Given the description of an element on the screen output the (x, y) to click on. 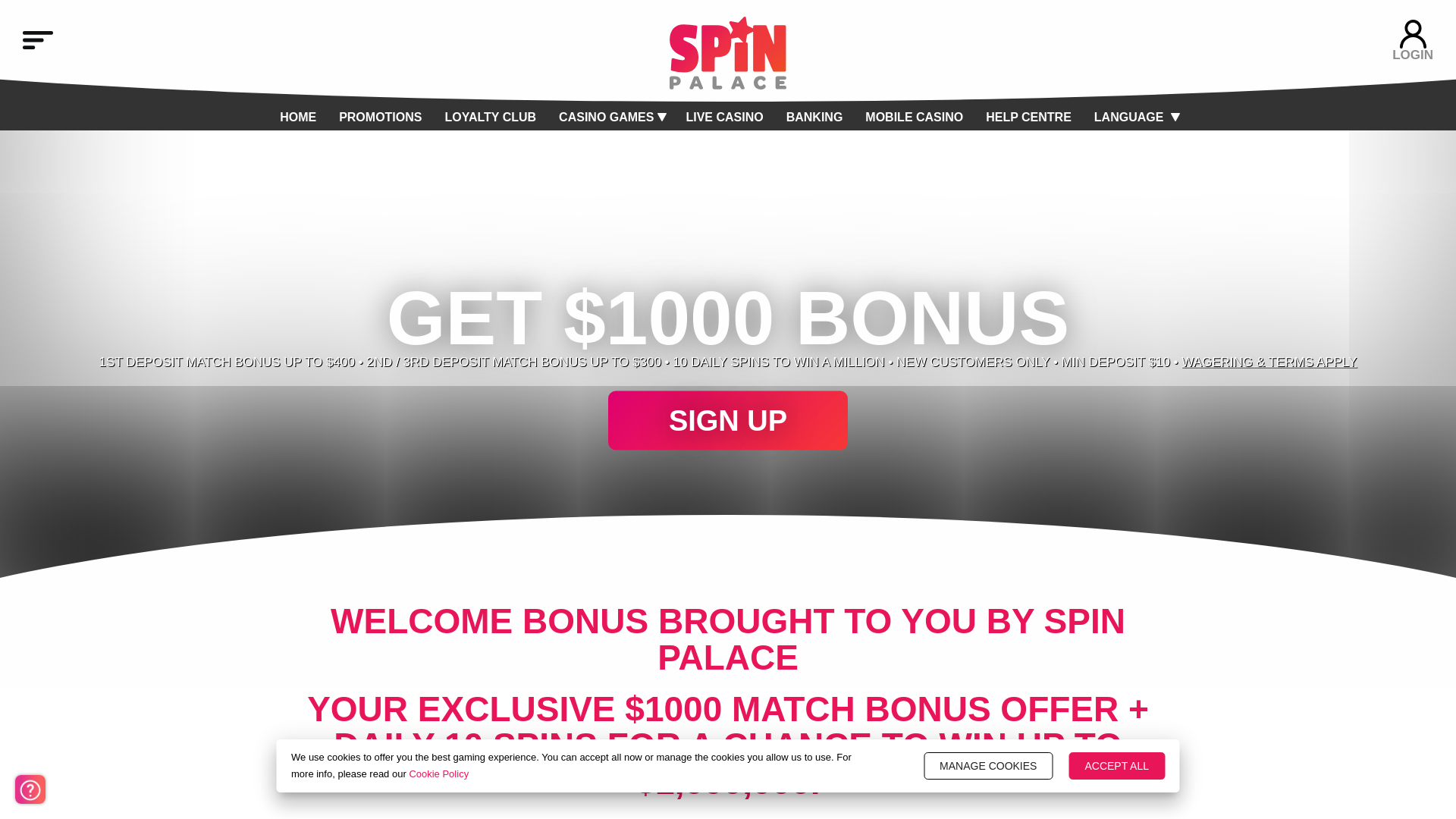
HELP CENTRE (1028, 117)
CASINO GAMES (606, 117)
PROMOTIONS (380, 117)
SIGN UP (727, 420)
BANKING (814, 117)
LANGUAGE (1128, 117)
HOME (297, 117)
MOBILE CASINO (913, 117)
LOYALTY CLUB (489, 117)
LIVE CASINO (723, 117)
